Given the description of an element on the screen output the (x, y) to click on. 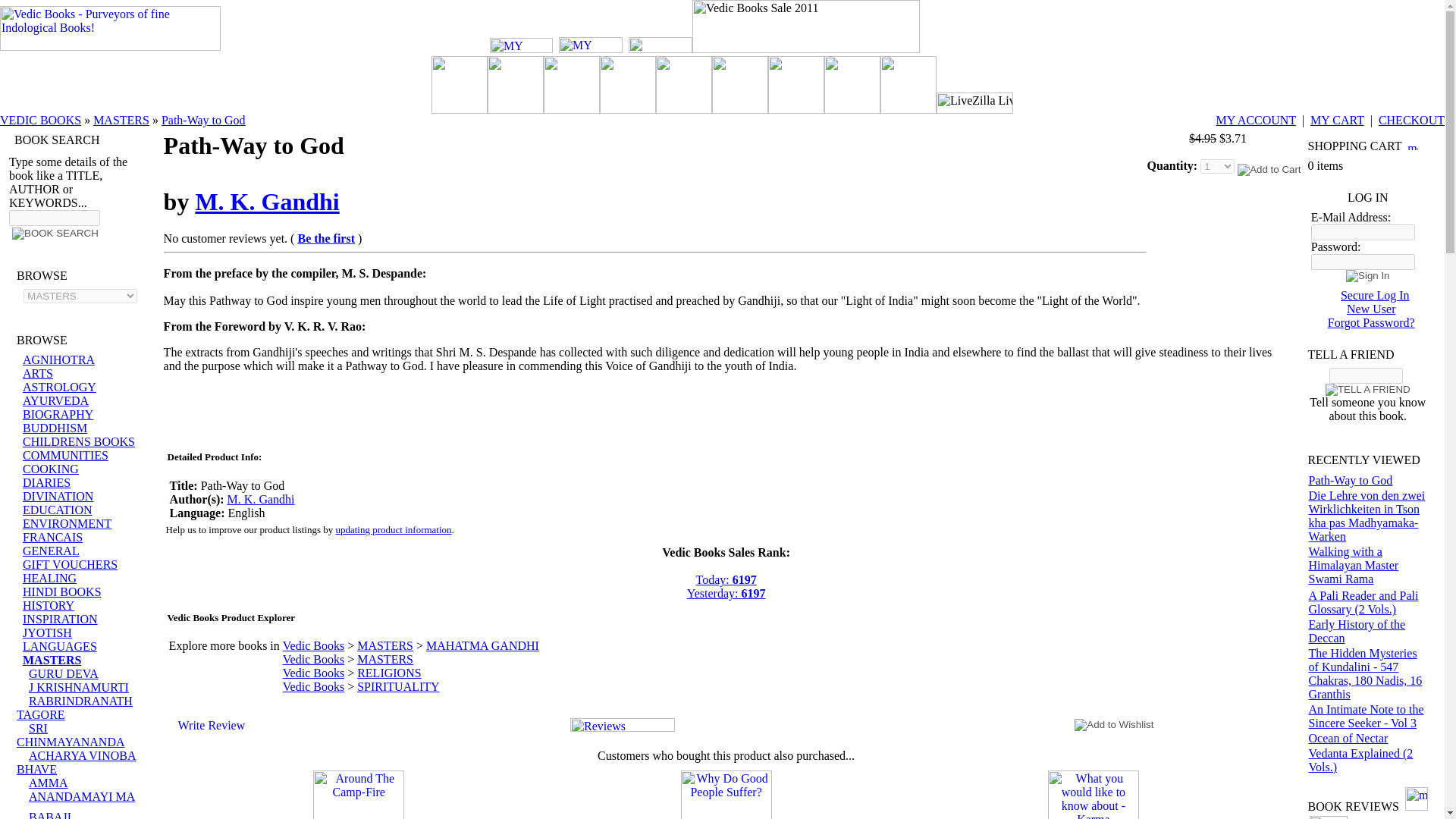
VEDIC BOOKS (40, 119)
 MY ACCOUNT  (521, 45)
AYURVEDA (55, 400)
MY ACCOUNT (1255, 119)
MY CART (1337, 119)
COMMUNITIES (65, 454)
 Why Do Good People Suffer?  (726, 794)
 What you would like to know about - Karma  (1093, 794)
COOKING (50, 468)
BIOGRAPHY (58, 413)
